Given the description of an element on the screen output the (x, y) to click on. 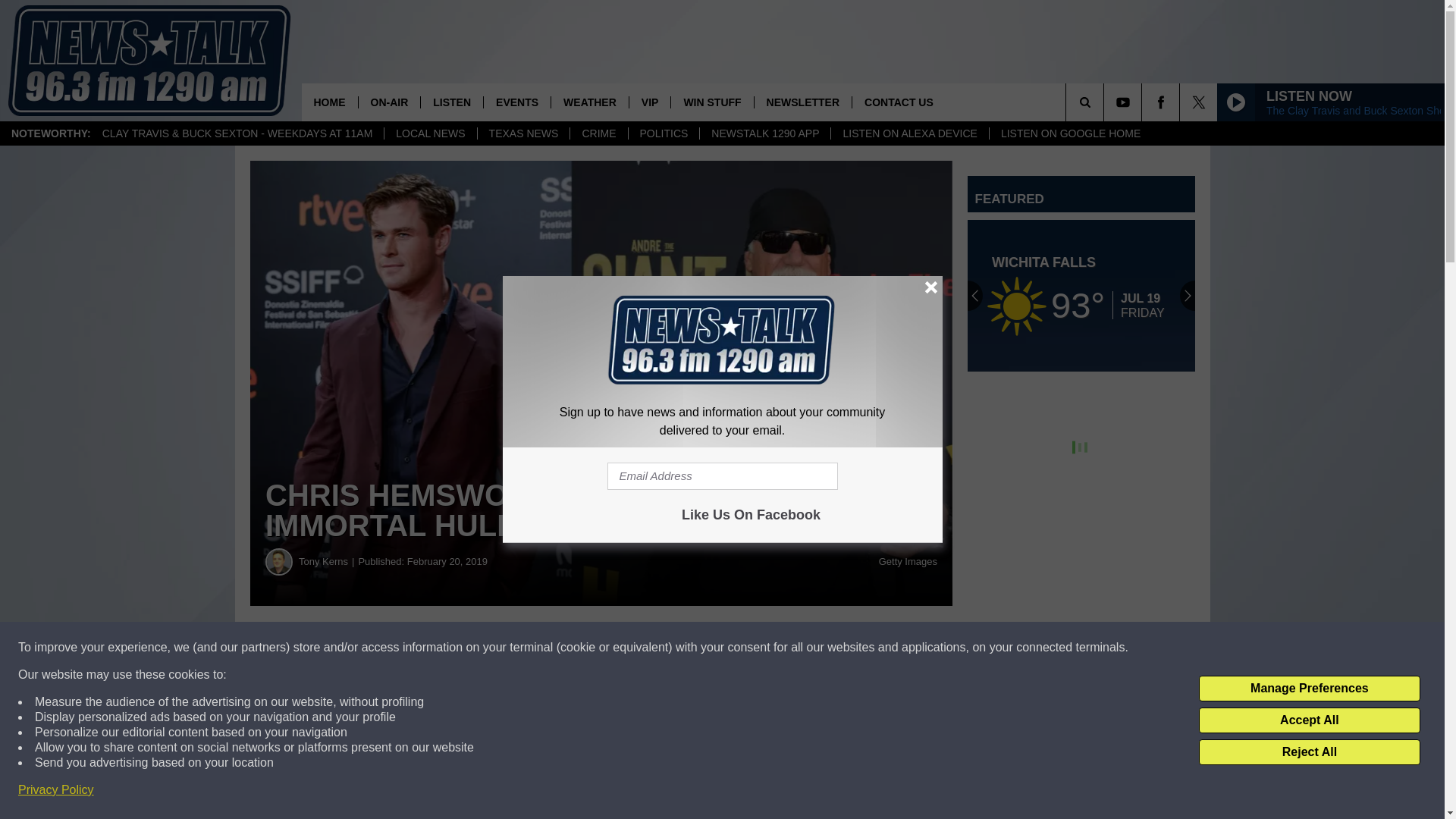
HOME (329, 102)
Wichita Falls Weather (1081, 295)
POLITICS (663, 133)
LISTEN (451, 102)
NEWSTALK 1290 APP (763, 133)
Accept All (1309, 720)
Privacy Policy (55, 789)
Share on Facebook (460, 647)
Share on Twitter (741, 647)
LISTEN ON ALEXA DEVICE (908, 133)
LOCAL NEWS (430, 133)
TEXAS NEWS (523, 133)
ON-AIR (389, 102)
VIP (649, 102)
CRIME (598, 133)
